Given the description of an element on the screen output the (x, y) to click on. 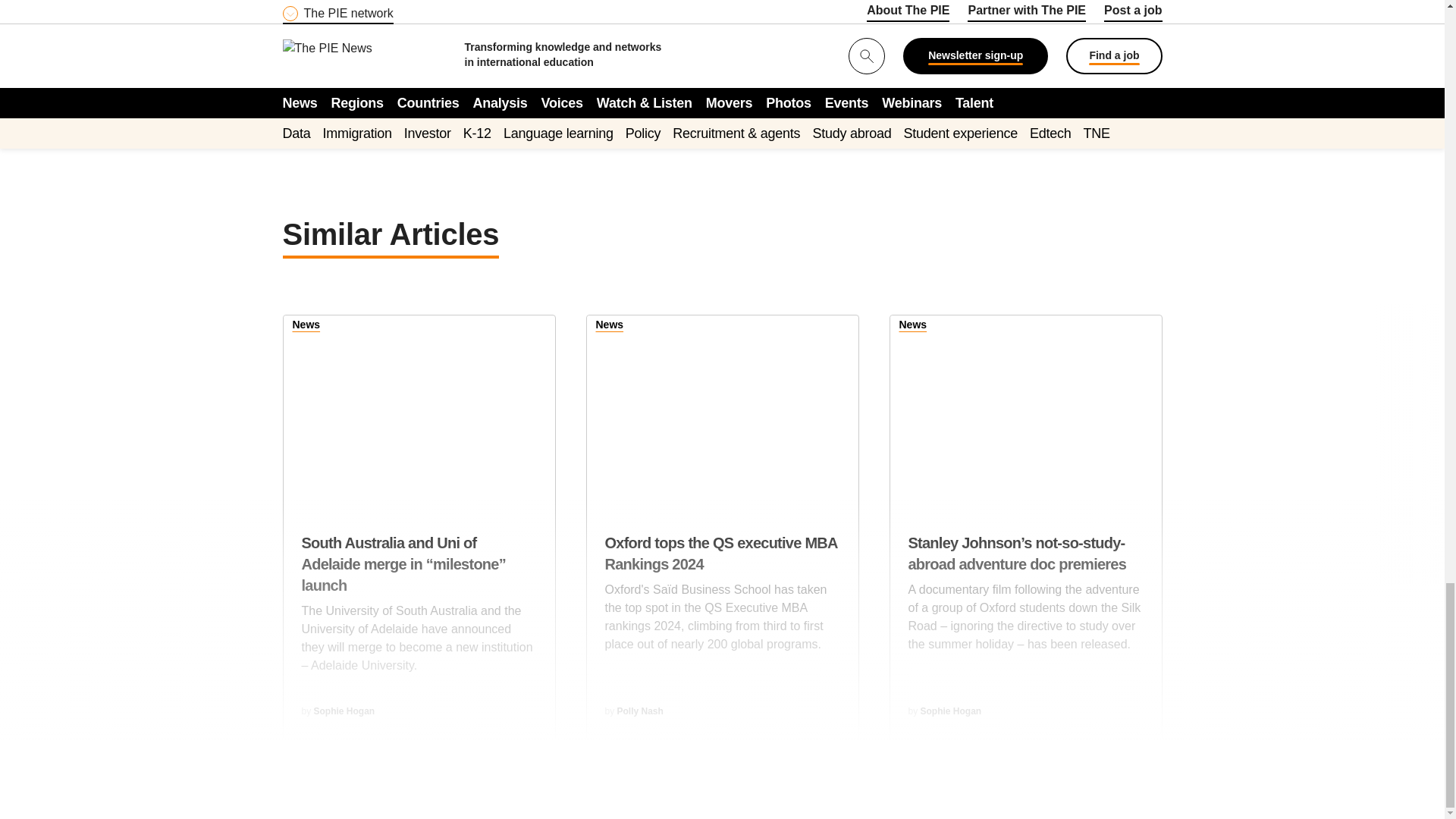
View all News articles (609, 326)
View all News articles (306, 326)
Oxford tops the QS executive MBA Rankings 2024 (722, 409)
Oxford tops the QS executive MBA Rankings 2024 (722, 601)
View all News articles (912, 326)
